Given the description of an element on the screen output the (x, y) to click on. 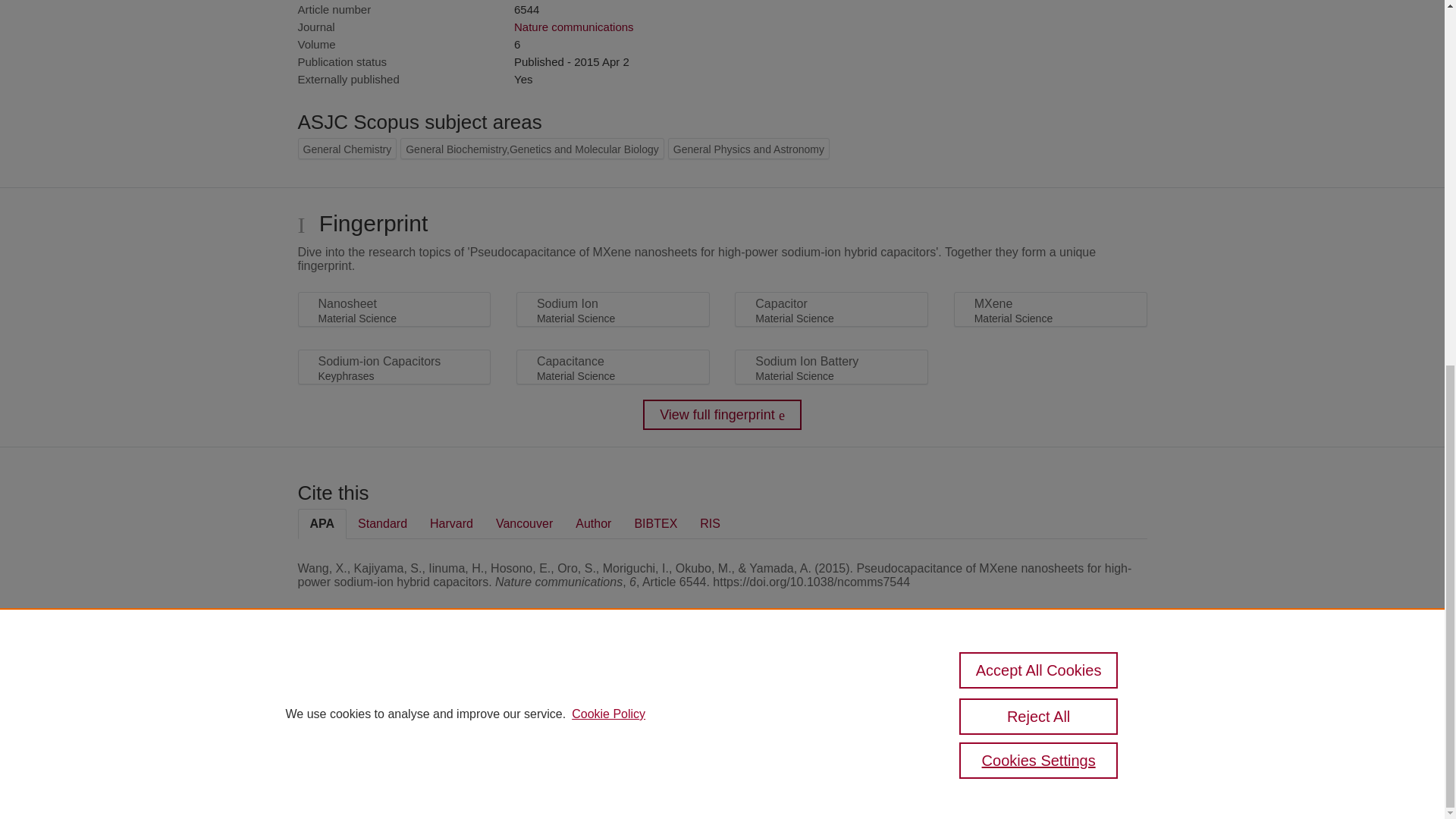
Pure (362, 687)
use of cookies (796, 740)
Report vulnerability (1088, 725)
Nature communications (573, 26)
Cookie Policy (608, 56)
About web accessibility (1088, 693)
Log in to Pure (327, 781)
Elsevier B.V. (506, 708)
View full fingerprint (722, 414)
Scopus (394, 687)
Cookies Settings (334, 761)
